Given the description of an element on the screen output the (x, y) to click on. 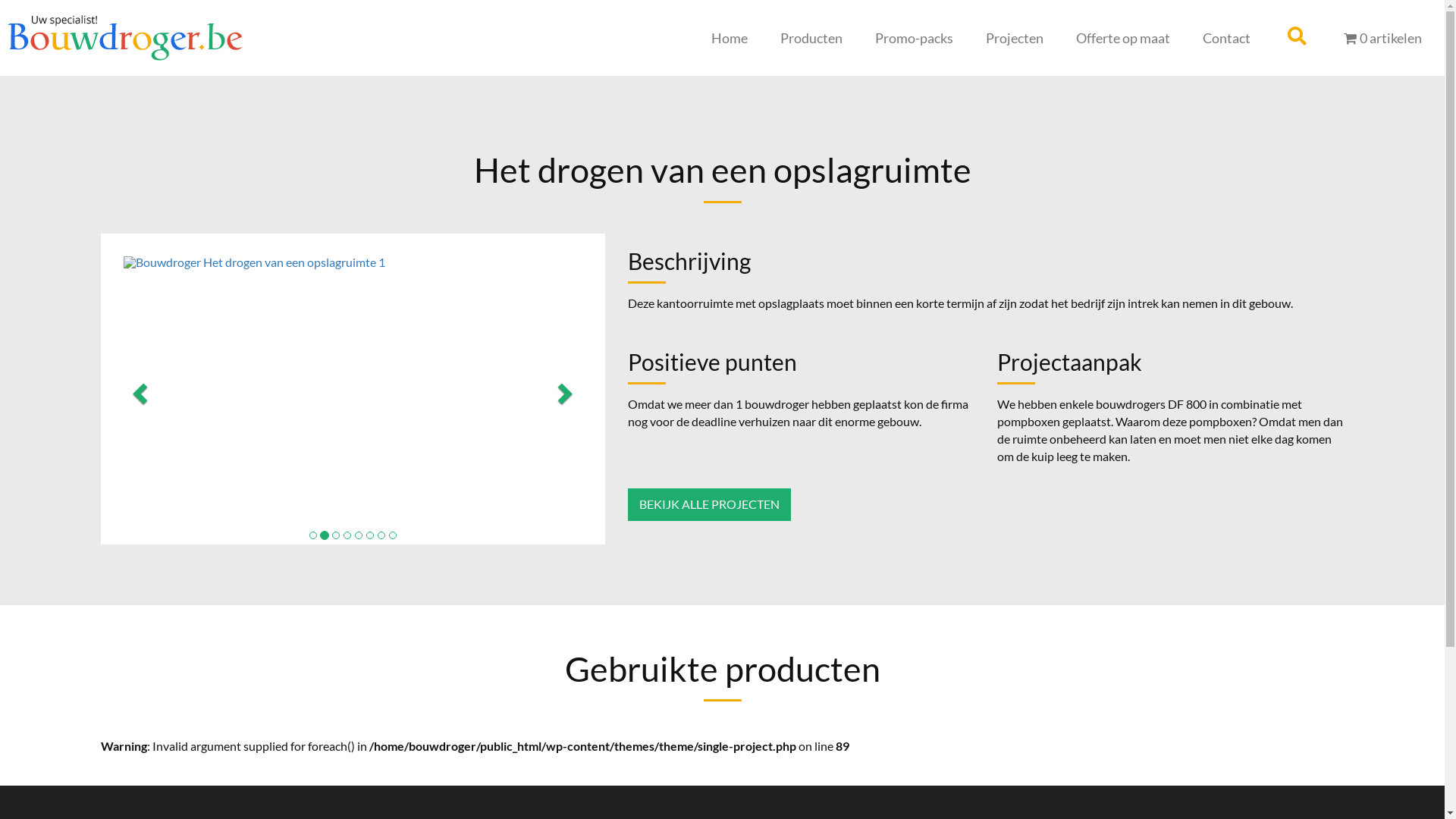
BEKIJK ALLE PROJECTEN Element type: text (708, 504)
Next Element type: text (567, 388)
Producten Element type: text (810, 37)
Bouwdroger Element type: hover (124, 35)
0 artikelen Element type: text (1382, 38)
Projecten Element type: text (1014, 37)
Offerte op maat Element type: text (1122, 37)
Home Element type: text (729, 37)
Contact Element type: text (1226, 37)
Promo-packs Element type: text (913, 37)
Previous Element type: text (137, 388)
